Given the description of an element on the screen output the (x, y) to click on. 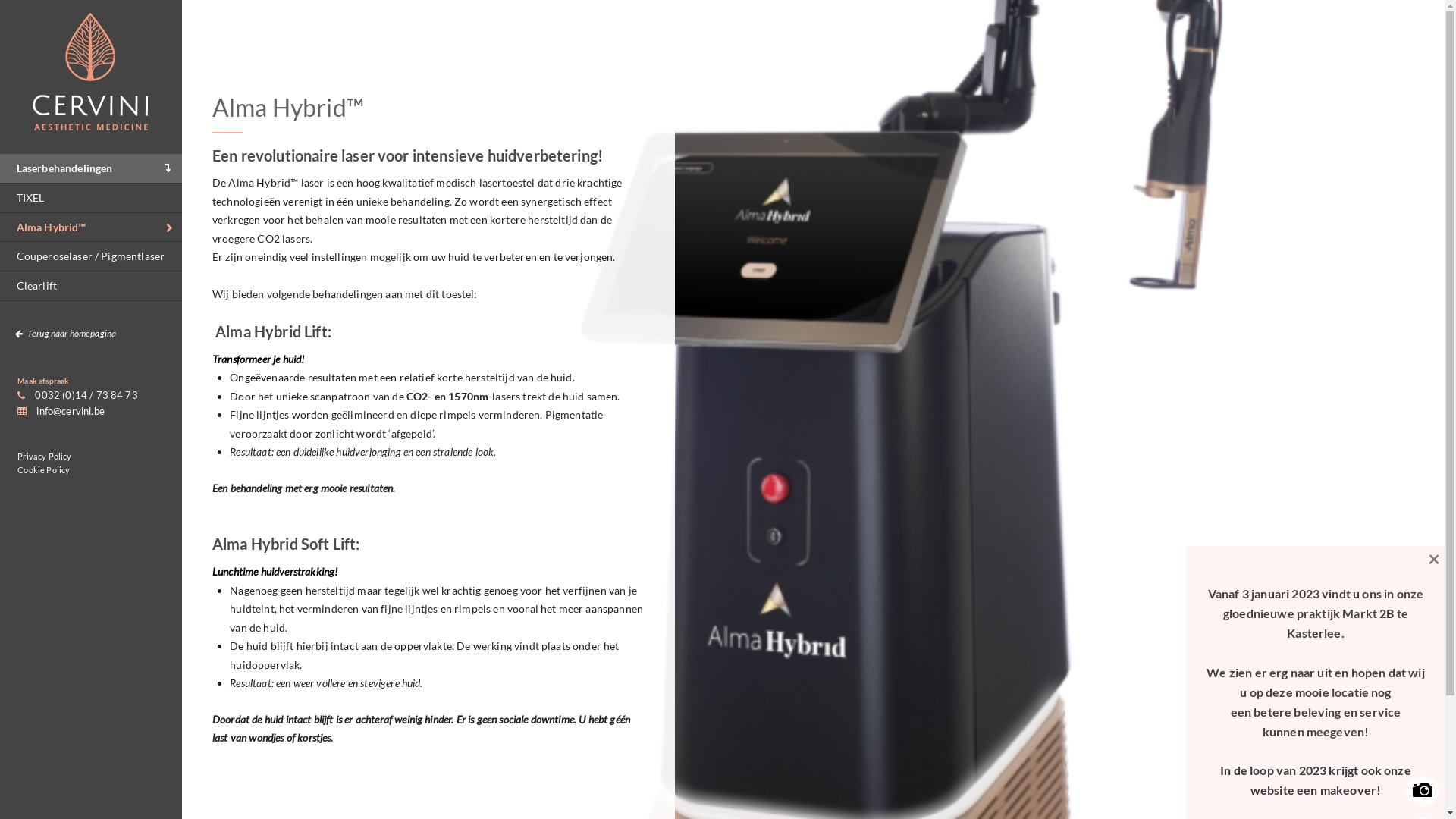
Clearlift Element type: text (91, 285)
Privacy Policy Element type: text (44, 456)
Laserbehandelingen Element type: text (91, 167)
Couperoselaser / Pigmentlaser Element type: text (91, 255)
info@cervini.be Element type: text (60, 410)
Cookie Policy Element type: text (43, 469)
Esthetische geneeskunde Element type: hover (90, 122)
Terug naar homepagina Element type: text (91, 333)
TIXEL Element type: text (91, 197)
0032 (0)14 / 73 84 73 Element type: text (77, 395)
